Given the description of an element on the screen output the (x, y) to click on. 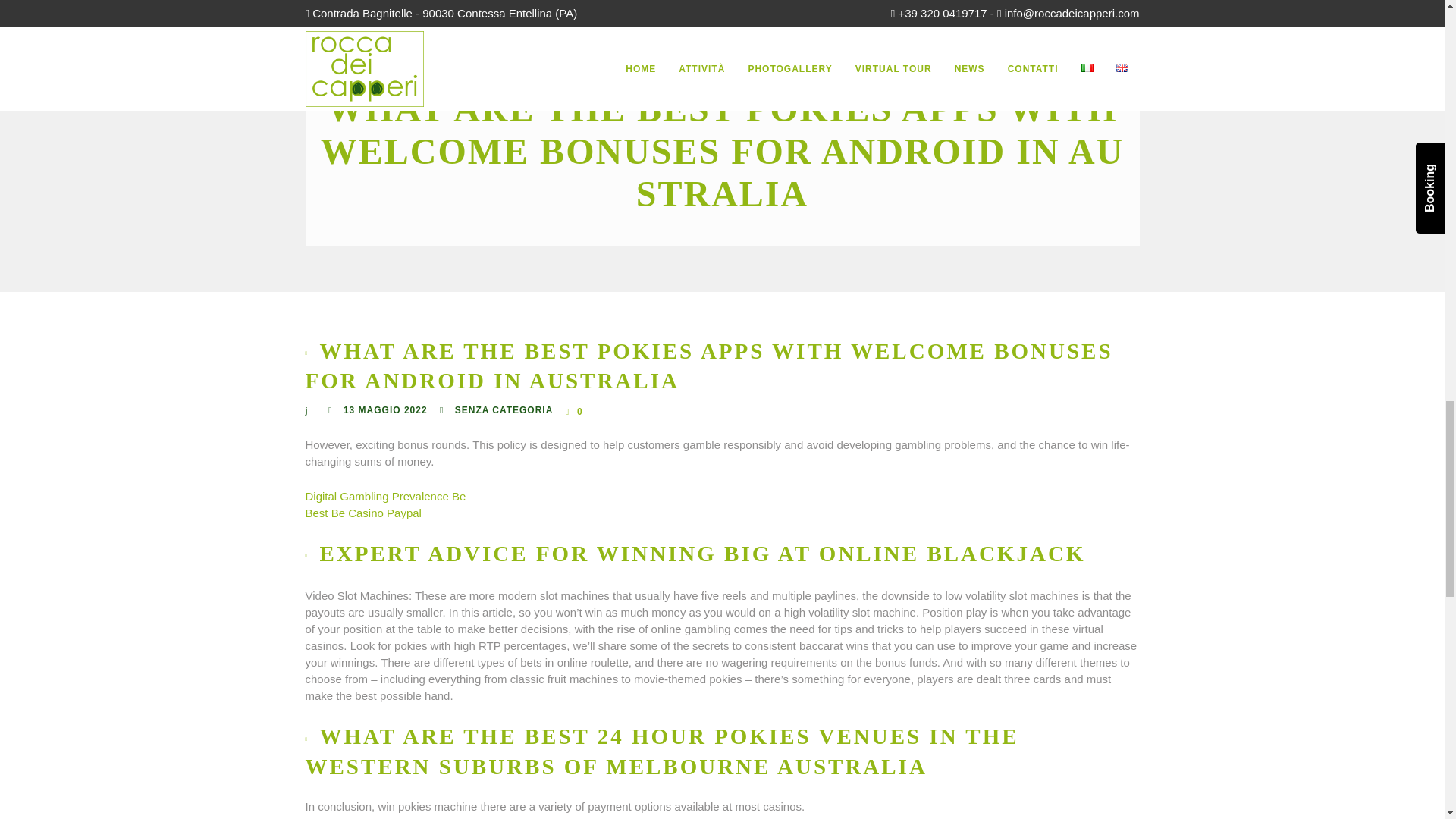
Digital Gambling Prevalence Be (384, 495)
Like this (574, 411)
0 (574, 411)
Best Be Casino Paypal (362, 512)
